Given the description of an element on the screen output the (x, y) to click on. 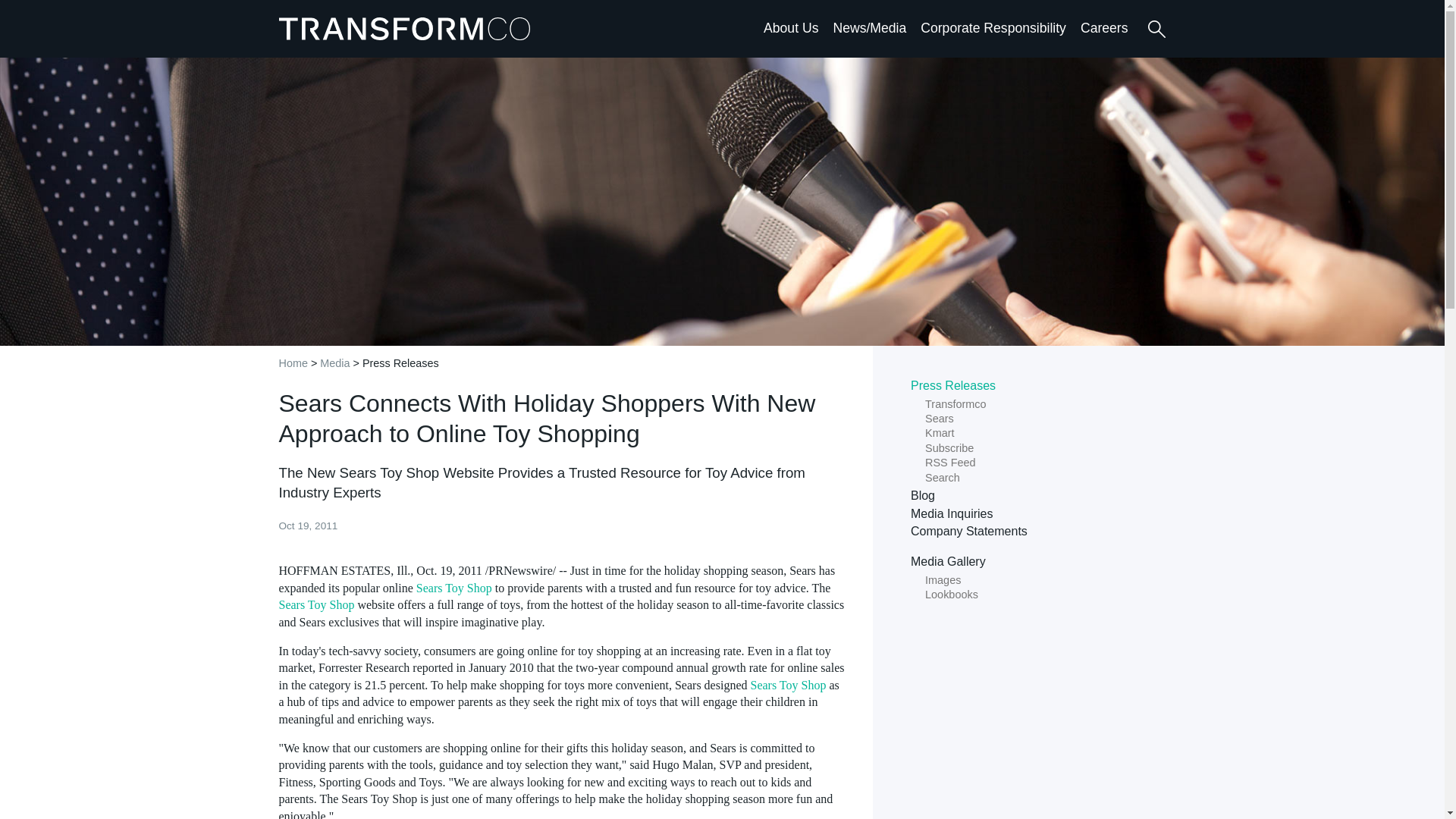
Corporate Responsibility (993, 28)
Search (1156, 28)
Transformco (408, 28)
Transformco (408, 28)
About Us (790, 28)
